Given the description of an element on the screen output the (x, y) to click on. 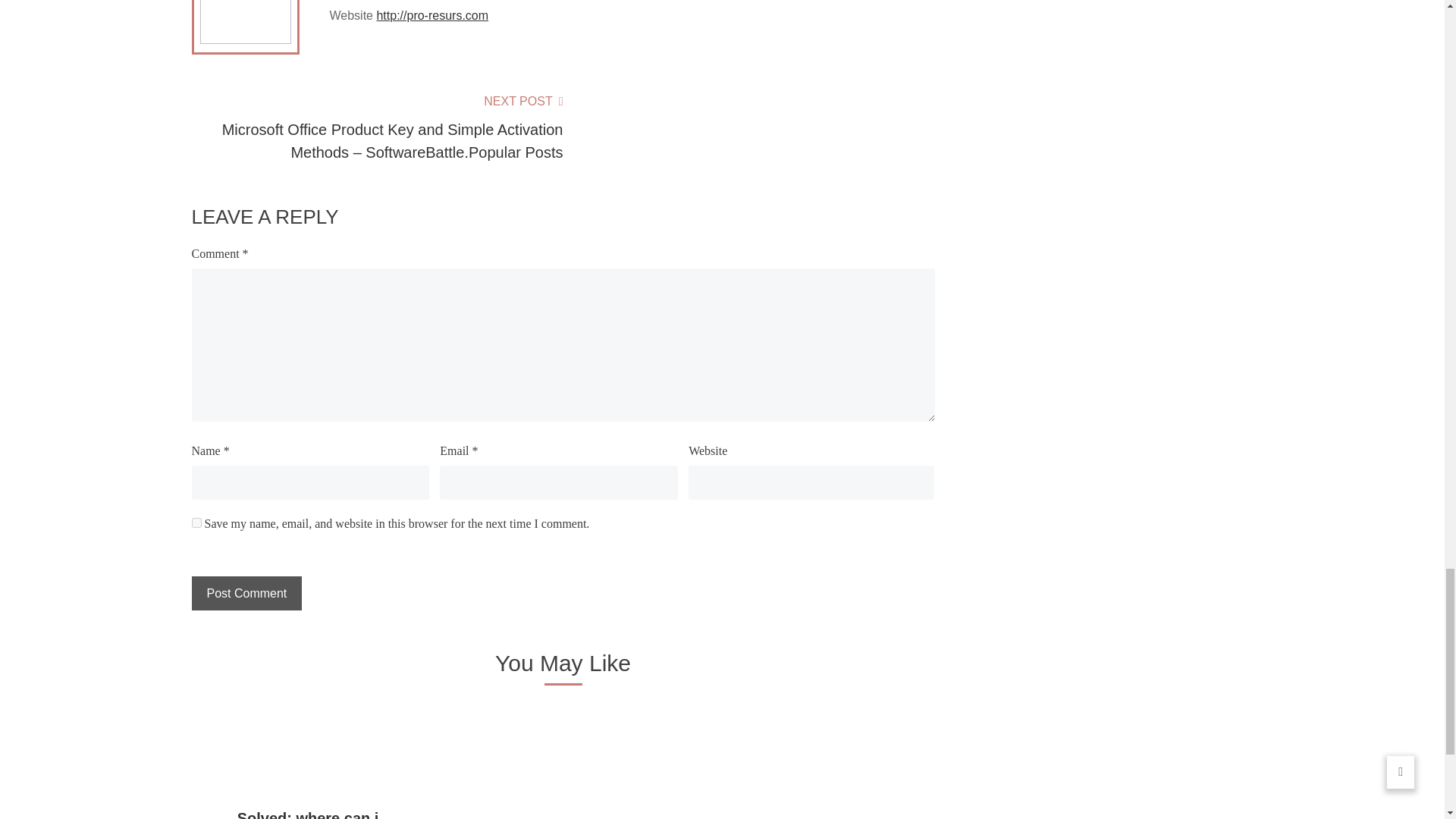
Post Comment (245, 593)
Post Comment (245, 593)
yes (195, 522)
